Given the description of an element on the screen output the (x, y) to click on. 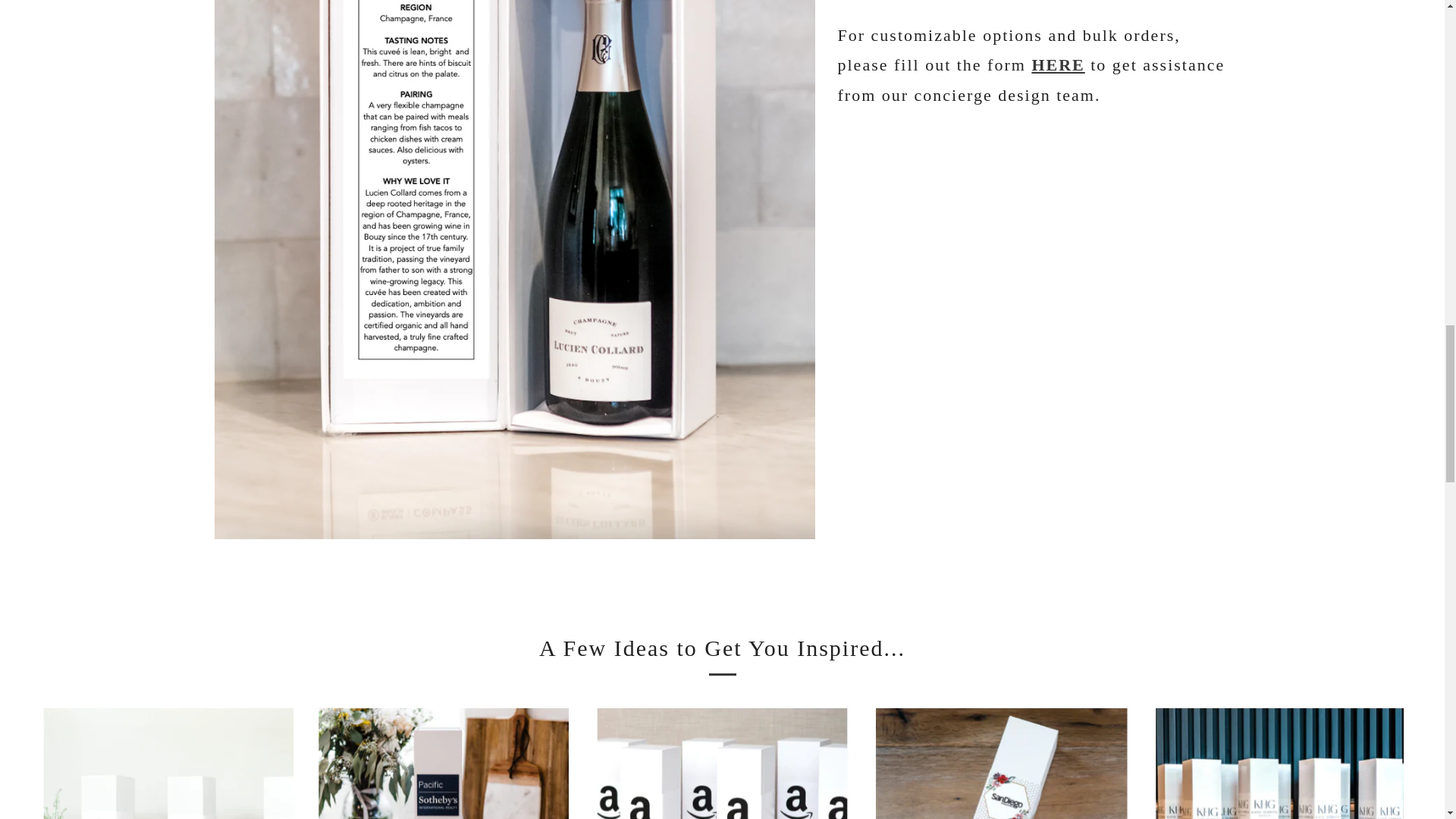
Custom gift form (1057, 64)
